Given the description of an element on the screen output the (x, y) to click on. 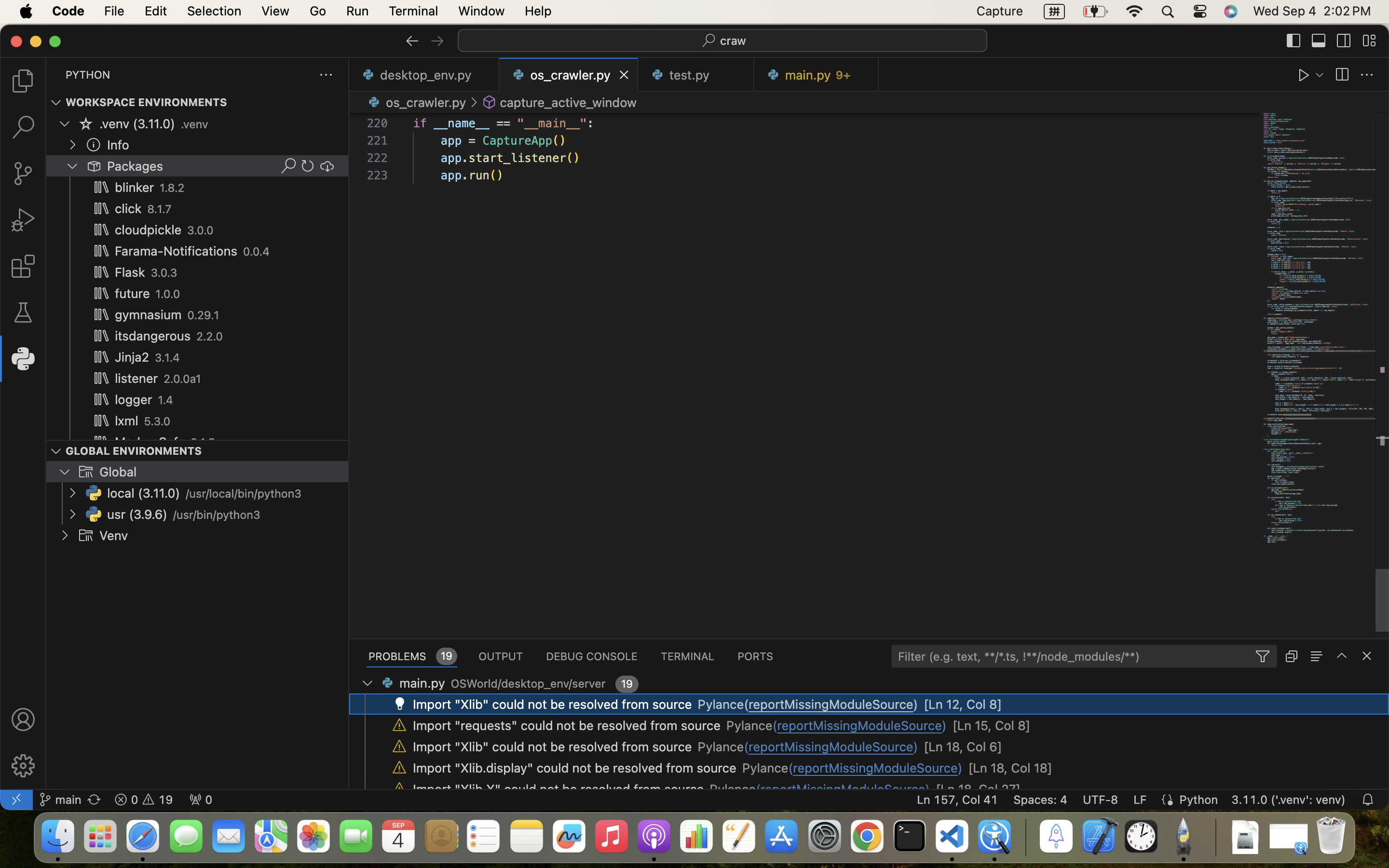
 0 Element type: AXButton (200, 799)
 Element type: AXButton (1341, 74)
 Element type: AXButton (1366, 655)
0 main.py   9+ Element type: AXRadioButton (816, 74)
 Element type: AXStaticText (1366, 74)
